Given the description of an element on the screen output the (x, y) to click on. 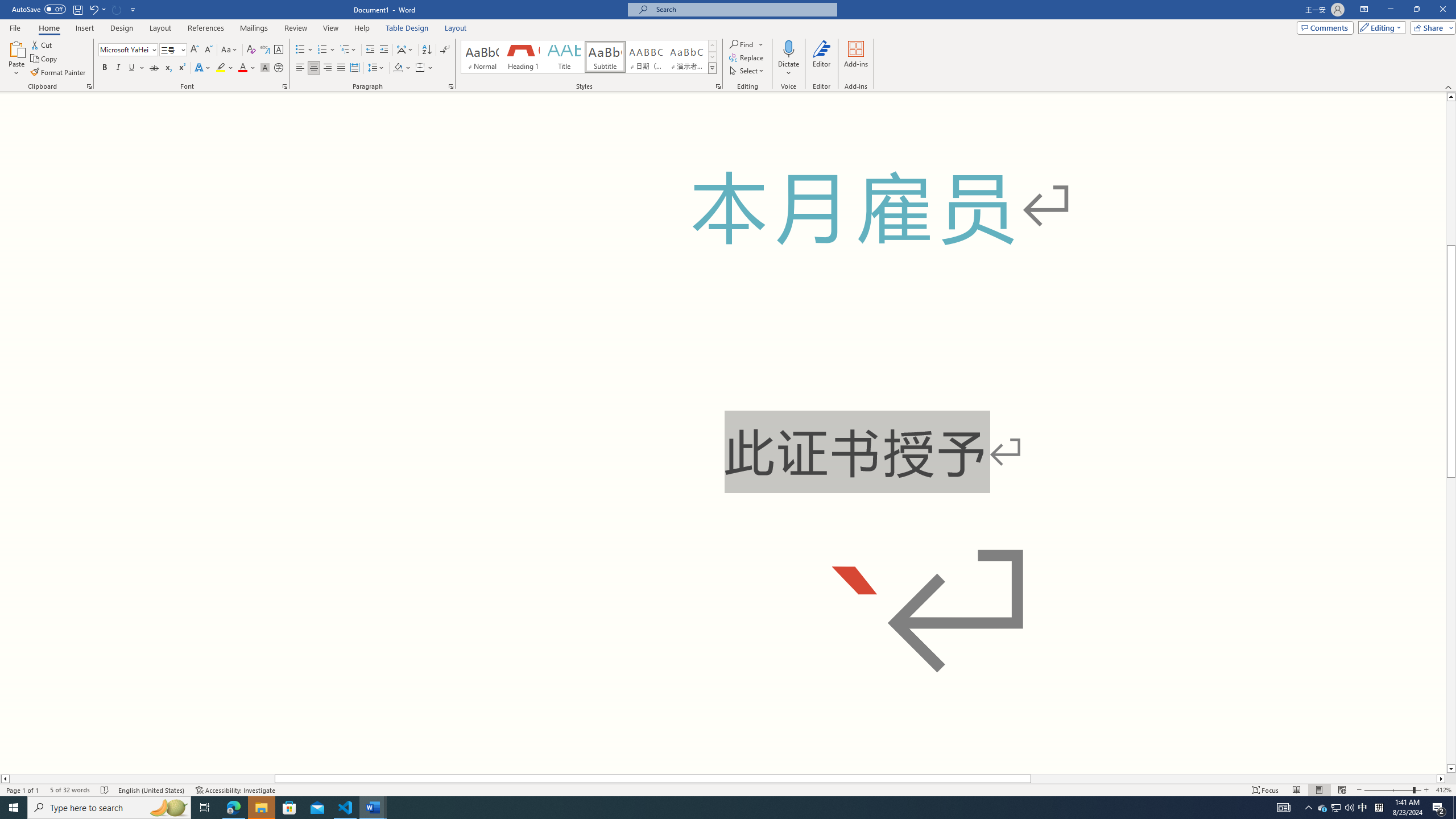
Zoom (1392, 790)
Title (564, 56)
Font Color Red (241, 67)
Center (313, 67)
Comments (1325, 27)
Open (182, 49)
Paste (16, 48)
Restore Down (1416, 9)
Row Down (711, 56)
Character Shading (264, 67)
Asian Layout (405, 49)
Print Layout (1318, 790)
Class: NetUIScrollBar (722, 778)
Collapse the Ribbon (1448, 86)
